Given the description of an element on the screen output the (x, y) to click on. 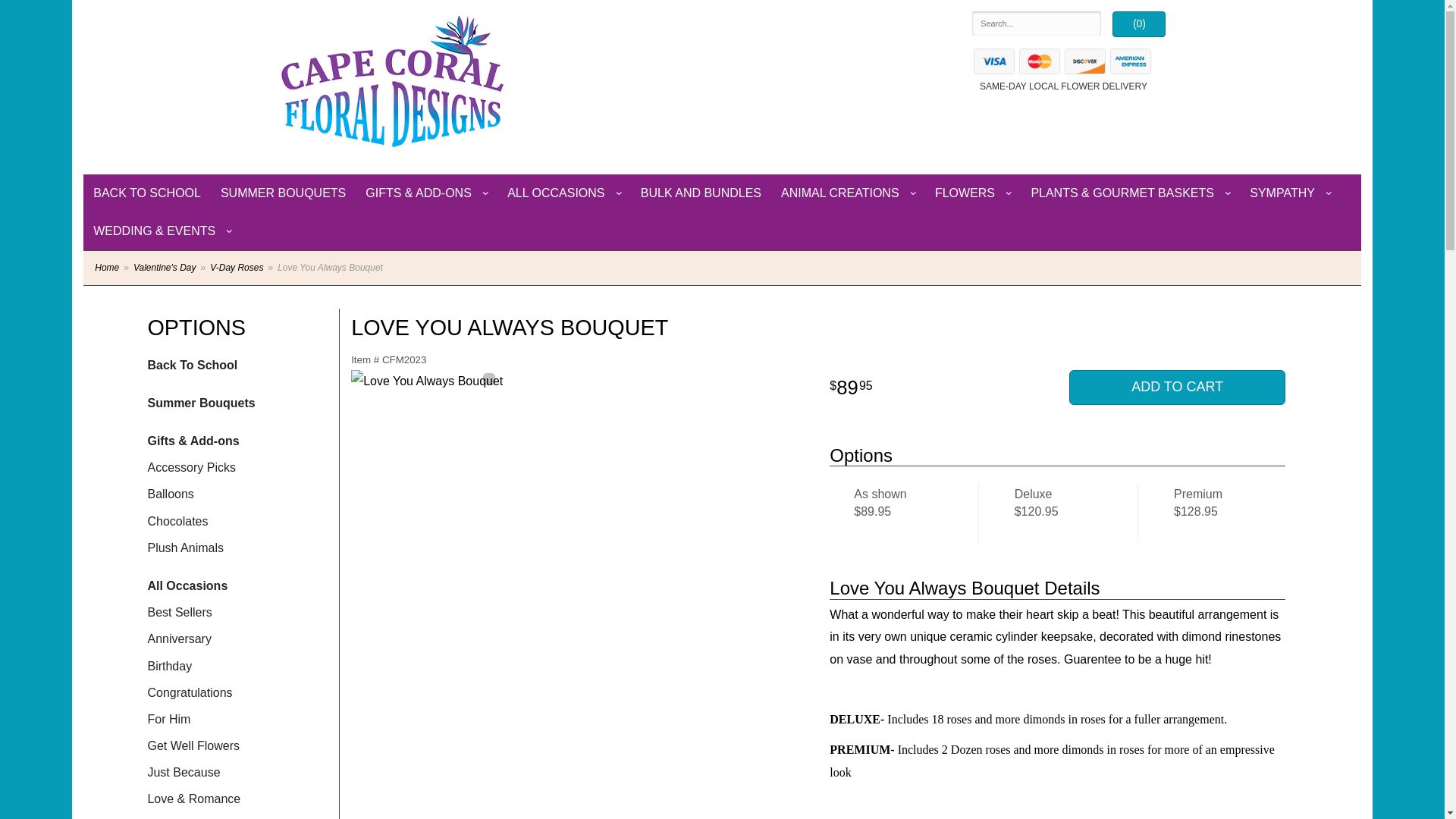
ANIMAL CREATIONS (847, 193)
SUMMER BOUQUETS (283, 193)
SYMPATHY (1290, 193)
BACK TO SCHOOL (146, 193)
FLOWERS (972, 193)
ALL OCCASIONS (563, 193)
BULK AND BUNDLES (700, 193)
